Given the description of an element on the screen output the (x, y) to click on. 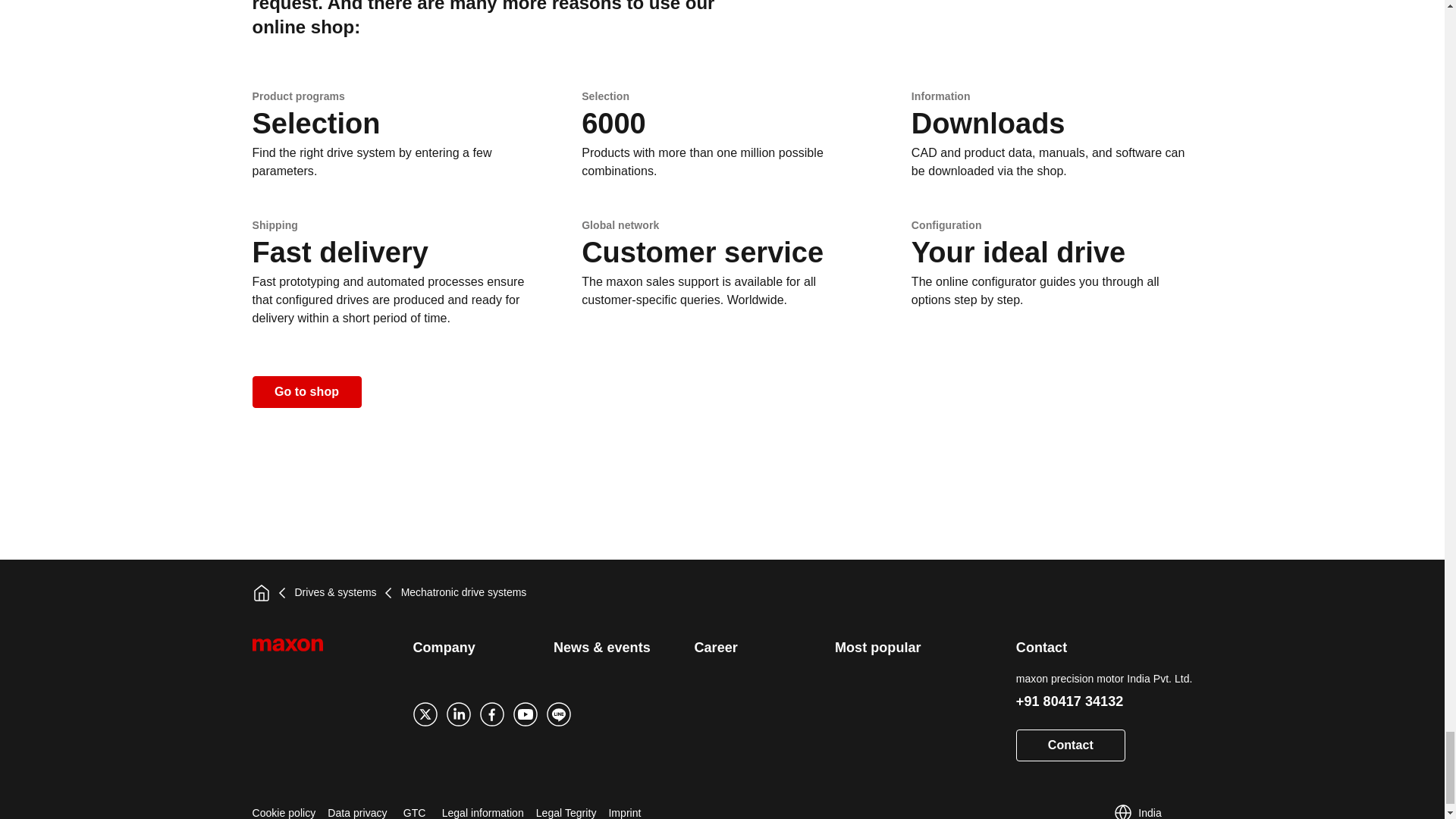
Imprint (624, 808)
Cookie policy (283, 808)
Cookie policy (283, 808)
Data privacy (357, 808)
Maxon Homepage (304, 653)
GTC (413, 808)
Legal information (483, 808)
Home (260, 592)
Contact (1070, 745)
Home (260, 592)
